Given the description of an element on the screen output the (x, y) to click on. 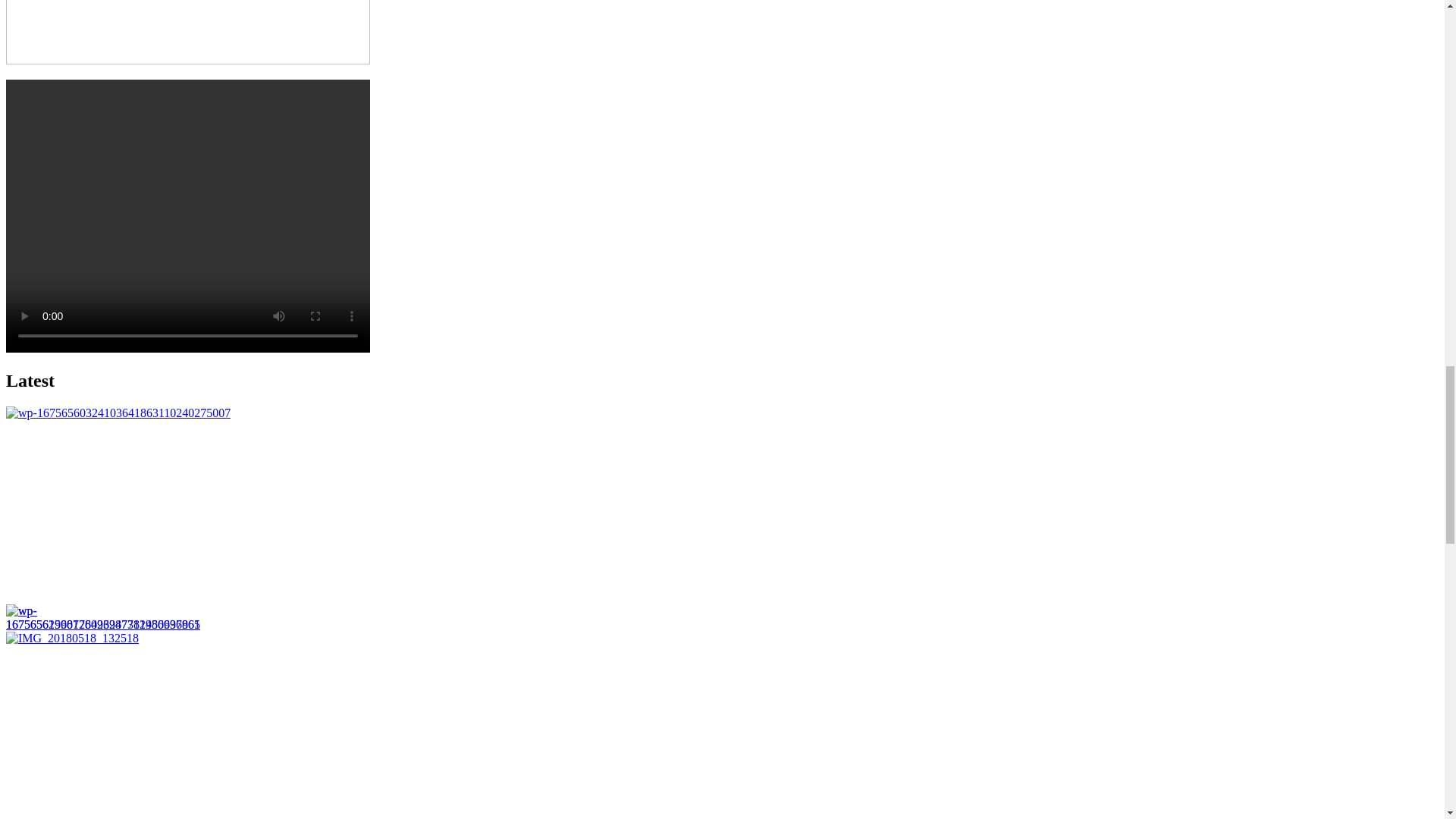
The Introduction (187, 32)
wp-16756562568128493947781486936861 (102, 617)
wp-16756560324103641863110240275007 (117, 413)
